Given the description of an element on the screen output the (x, y) to click on. 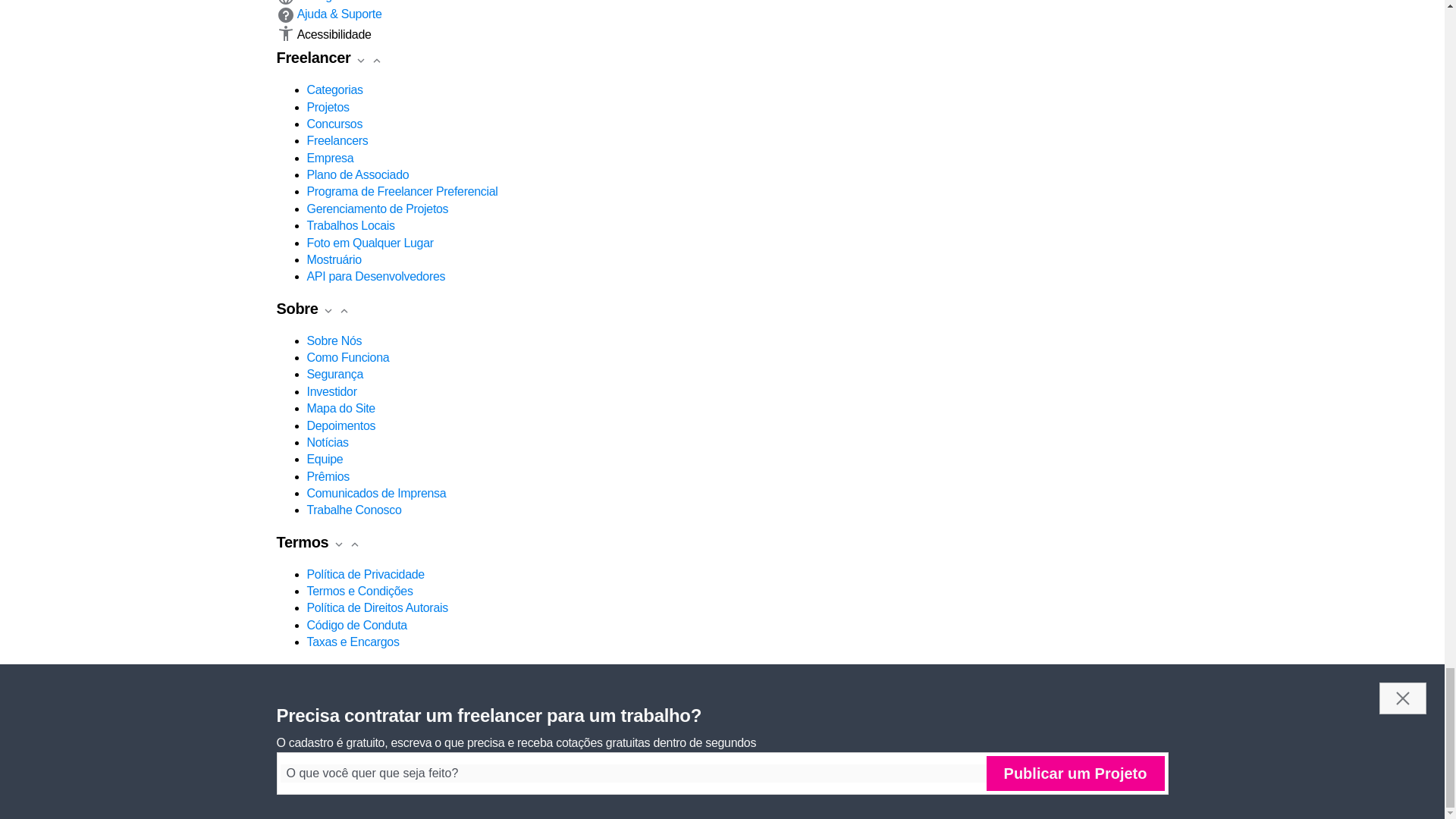
Baixar da App Store (333, 704)
Obter no Google Play (453, 704)
Freelancer no Youtube (327, 722)
Freelancer no Facebook (285, 722)
Freelancer no Instagram (349, 722)
Freelancer no Twitter (306, 722)
Projetos mais Recentes (370, 722)
